Given the description of an element on the screen output the (x, y) to click on. 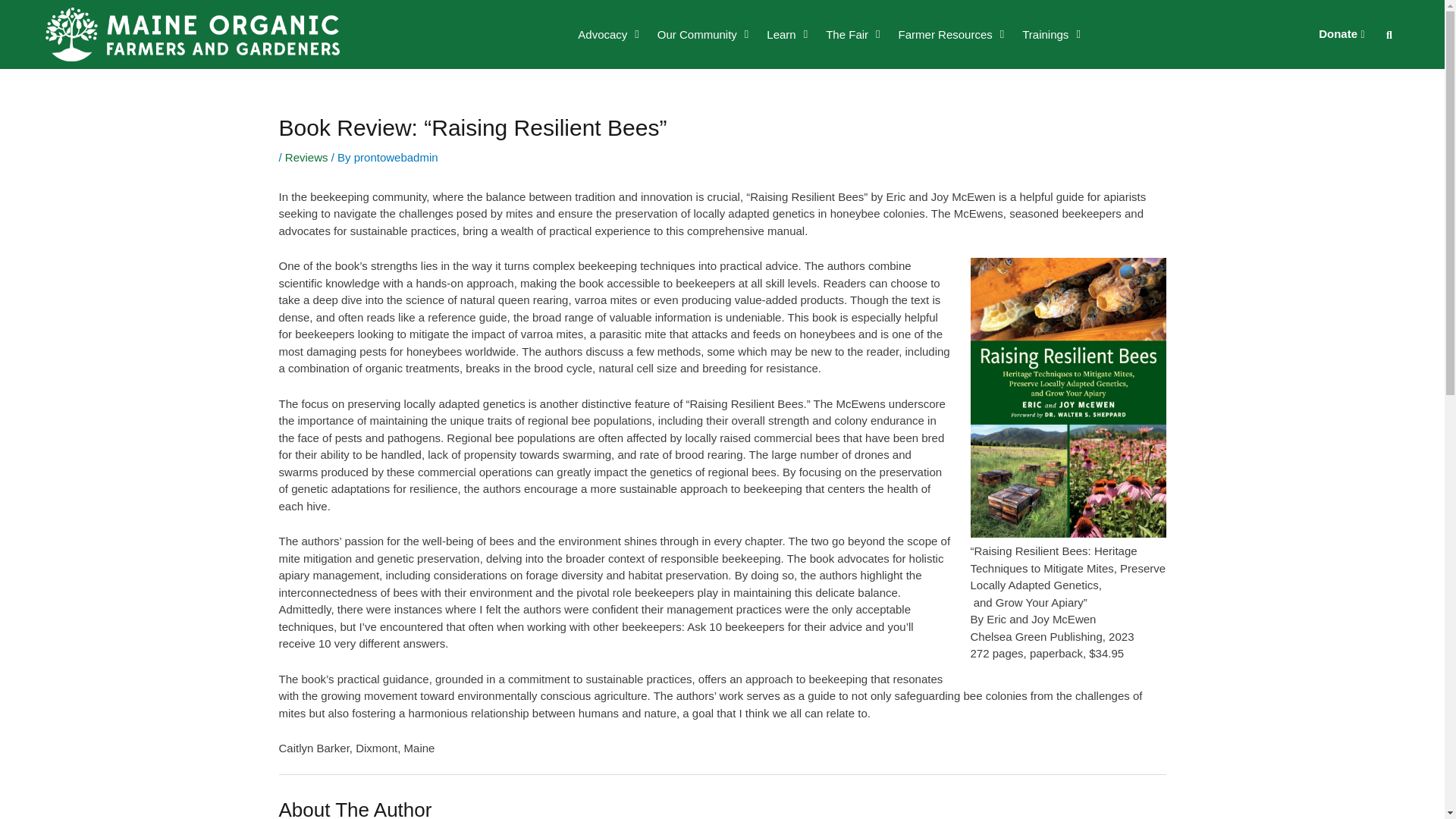
Advocacy (608, 33)
View all posts by prontowebadmin (395, 156)
Our Community (702, 33)
